Given the description of an element on the screen output the (x, y) to click on. 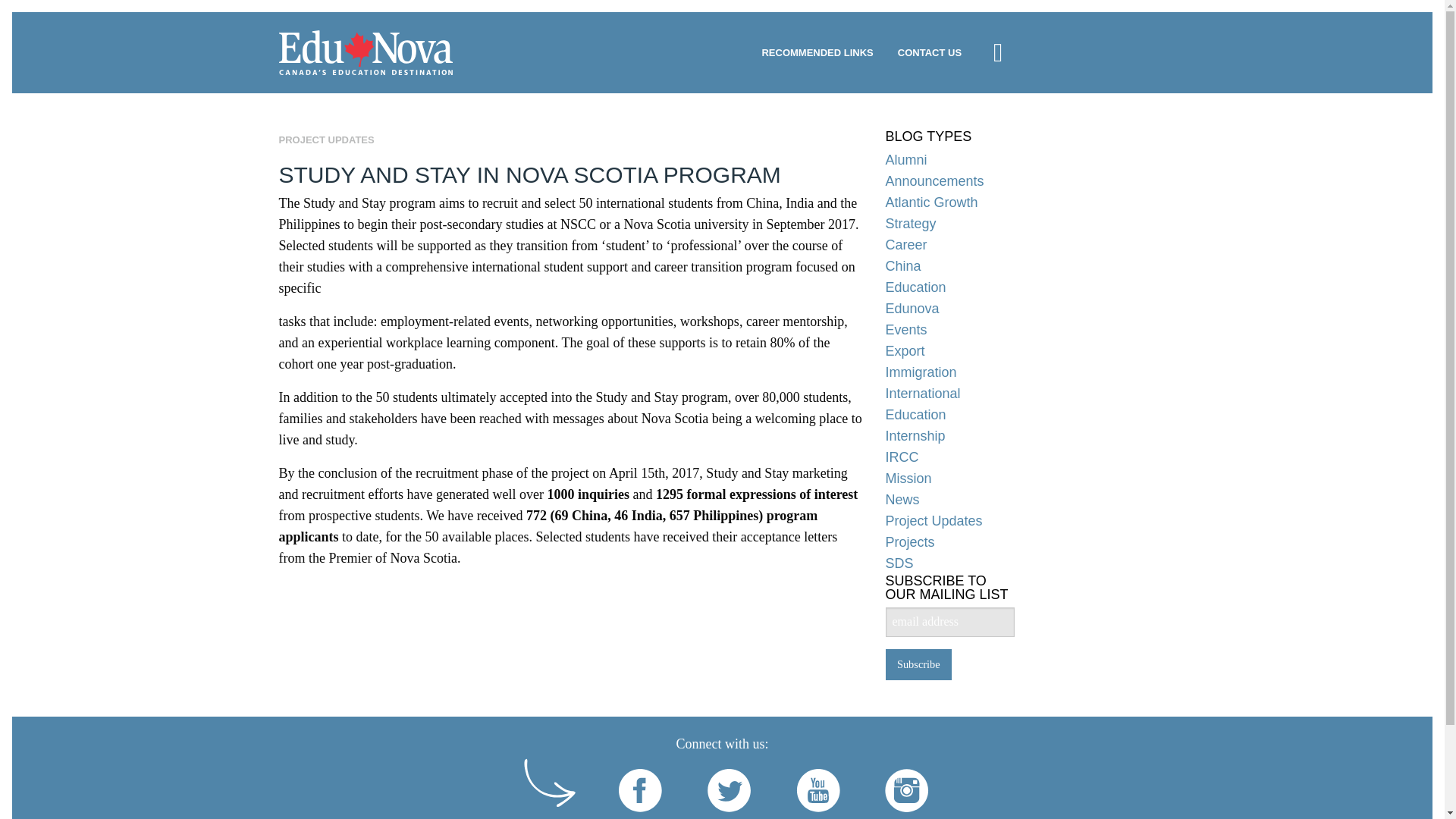
IRCC Tag (949, 456)
Project Updates (949, 520)
career Tag (949, 244)
Alumni (949, 159)
facebook (640, 791)
CONTACT US (929, 52)
Export (949, 350)
international education Tag (949, 404)
Atlantic growth strategy Tag (949, 212)
Projects (949, 541)
